Given the description of an element on the screen output the (x, y) to click on. 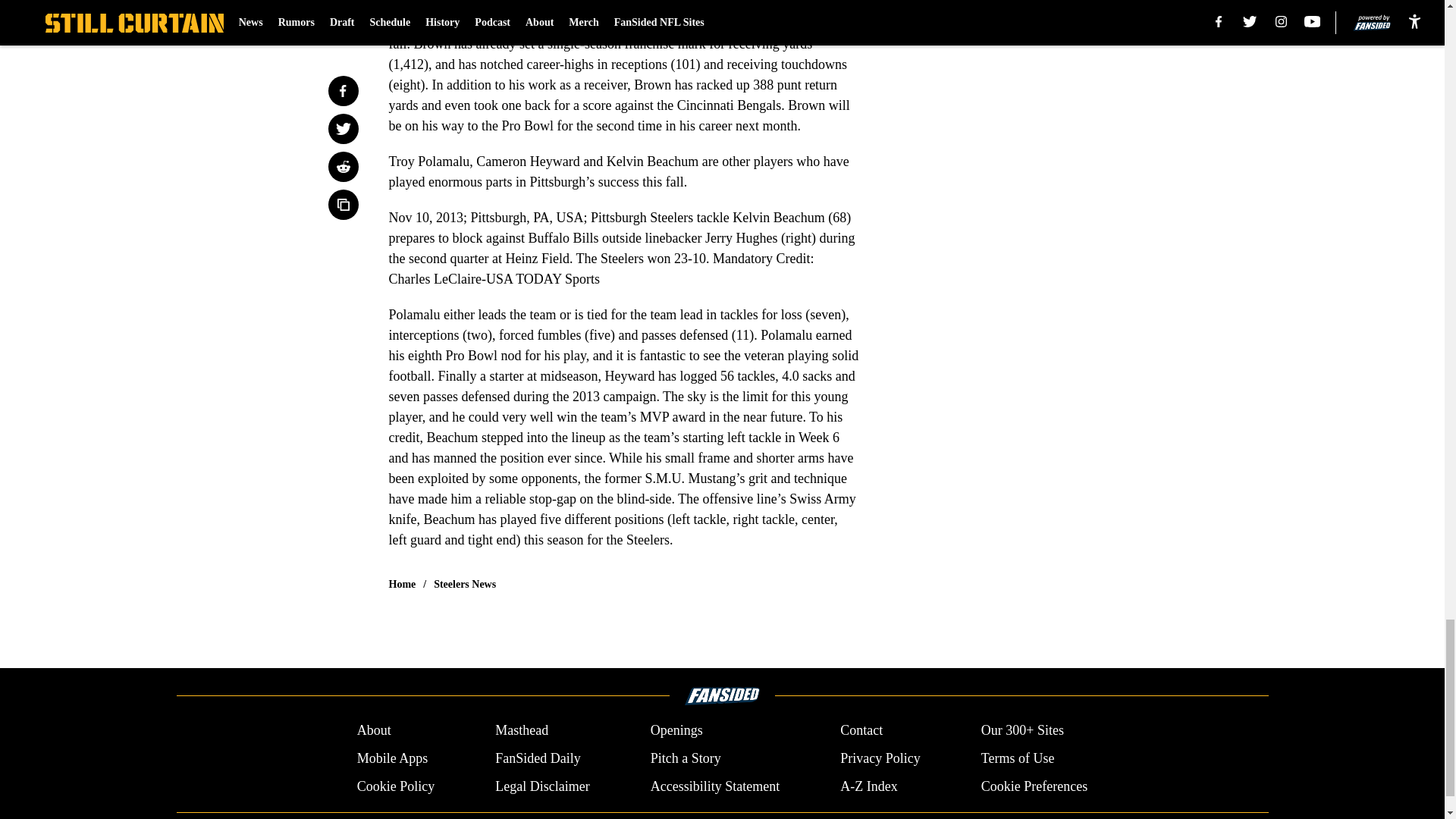
Accessibility Statement (714, 786)
Openings (676, 730)
Cookie Policy (395, 786)
Legal Disclaimer (542, 786)
Masthead (521, 730)
Pitch a Story (685, 758)
Mobile Apps (392, 758)
About (373, 730)
FanSided Daily (537, 758)
Privacy Policy (880, 758)
